Given the description of an element on the screen output the (x, y) to click on. 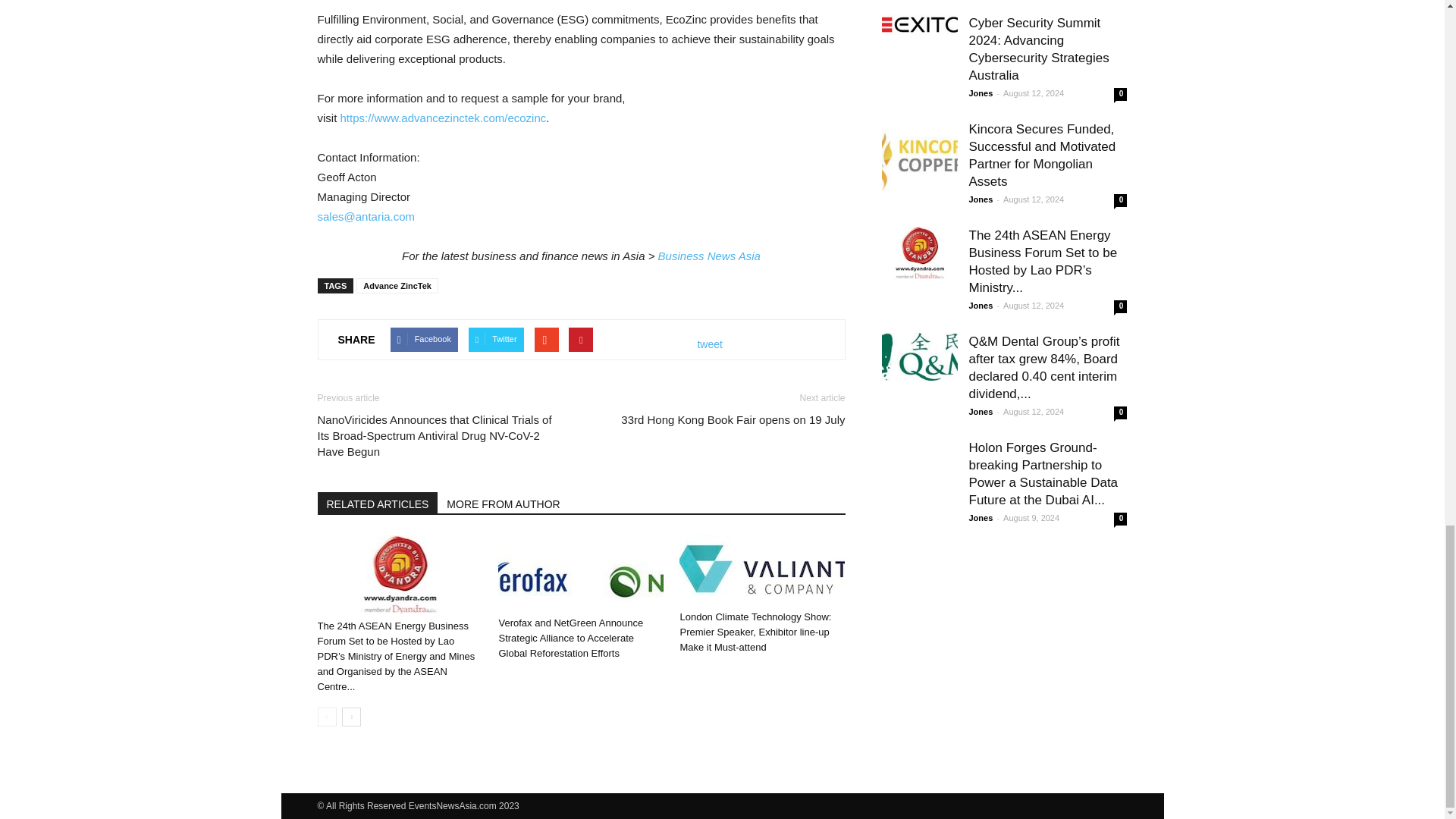
Business News Asia (709, 255)
